Given the description of an element on the screen output the (x, y) to click on. 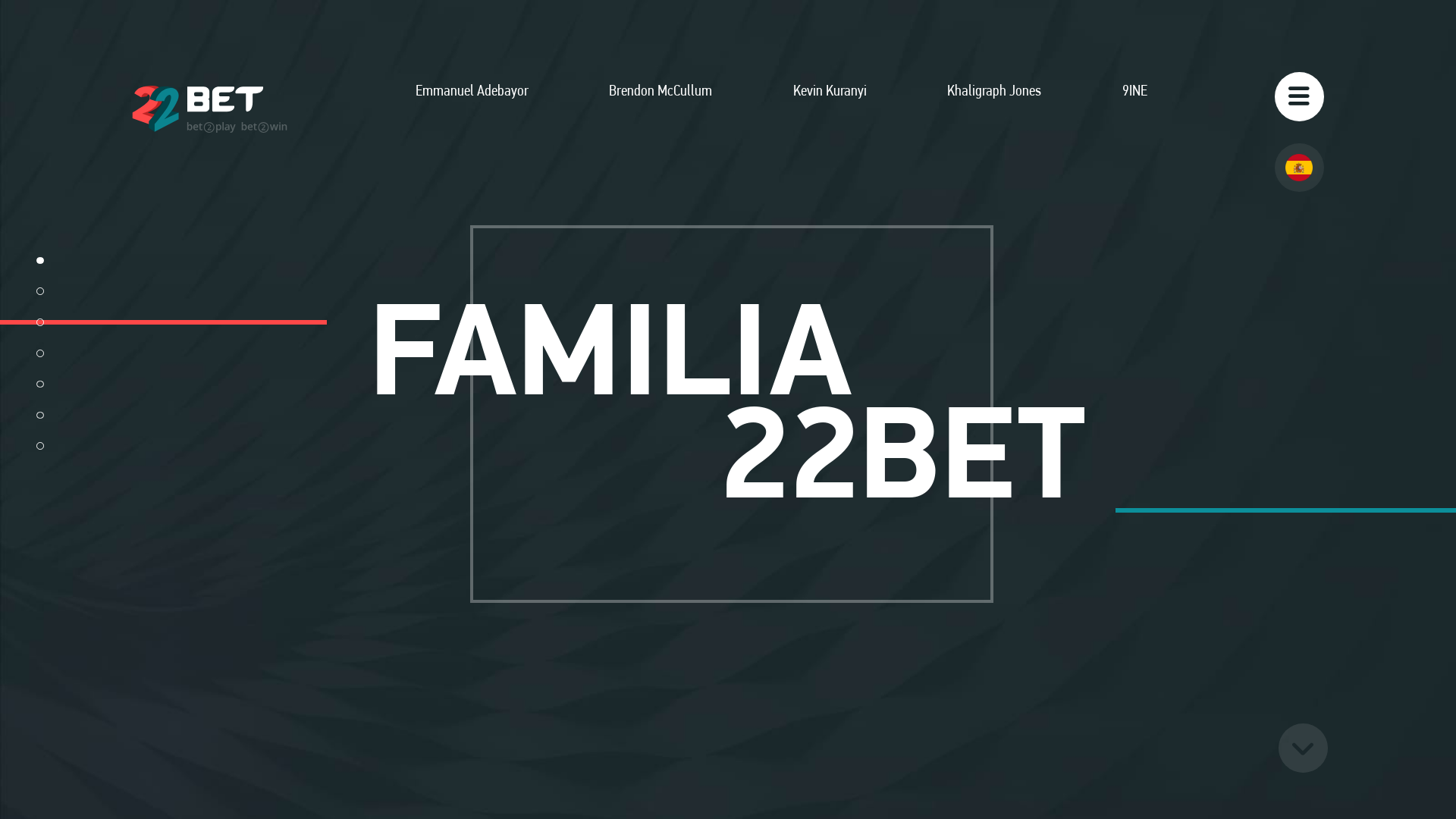
9INE Element type: text (1134, 106)
Kevin Kuranyi Element type: text (829, 106)
Emmanuel Adebayor Element type: text (471, 106)
Khaligraph Jones Element type: text (994, 106)
Brendon McCullum Element type: text (660, 106)
